Given the description of an element on the screen output the (x, y) to click on. 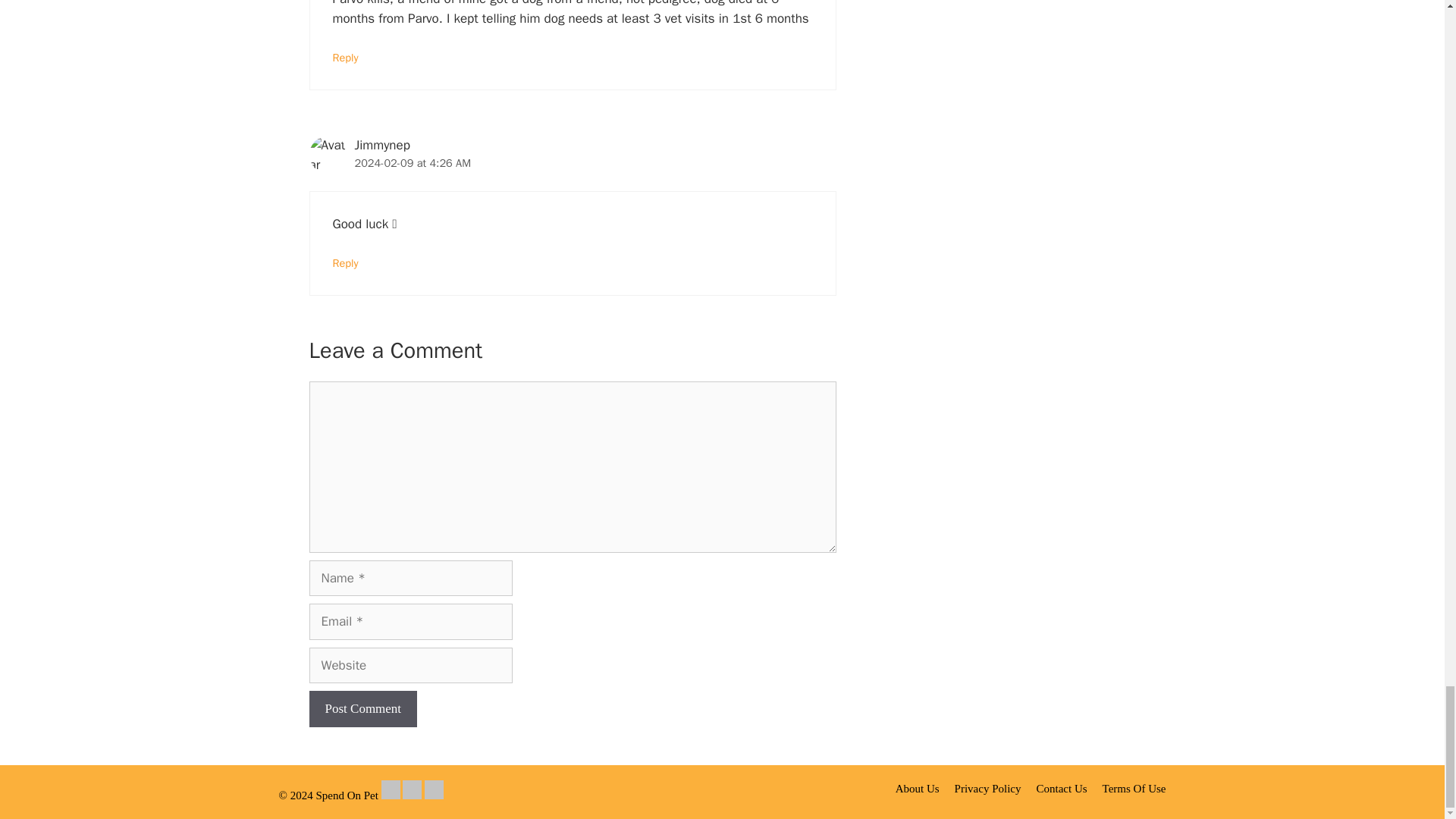
Post Comment (362, 709)
